Given the description of an element on the screen output the (x, y) to click on. 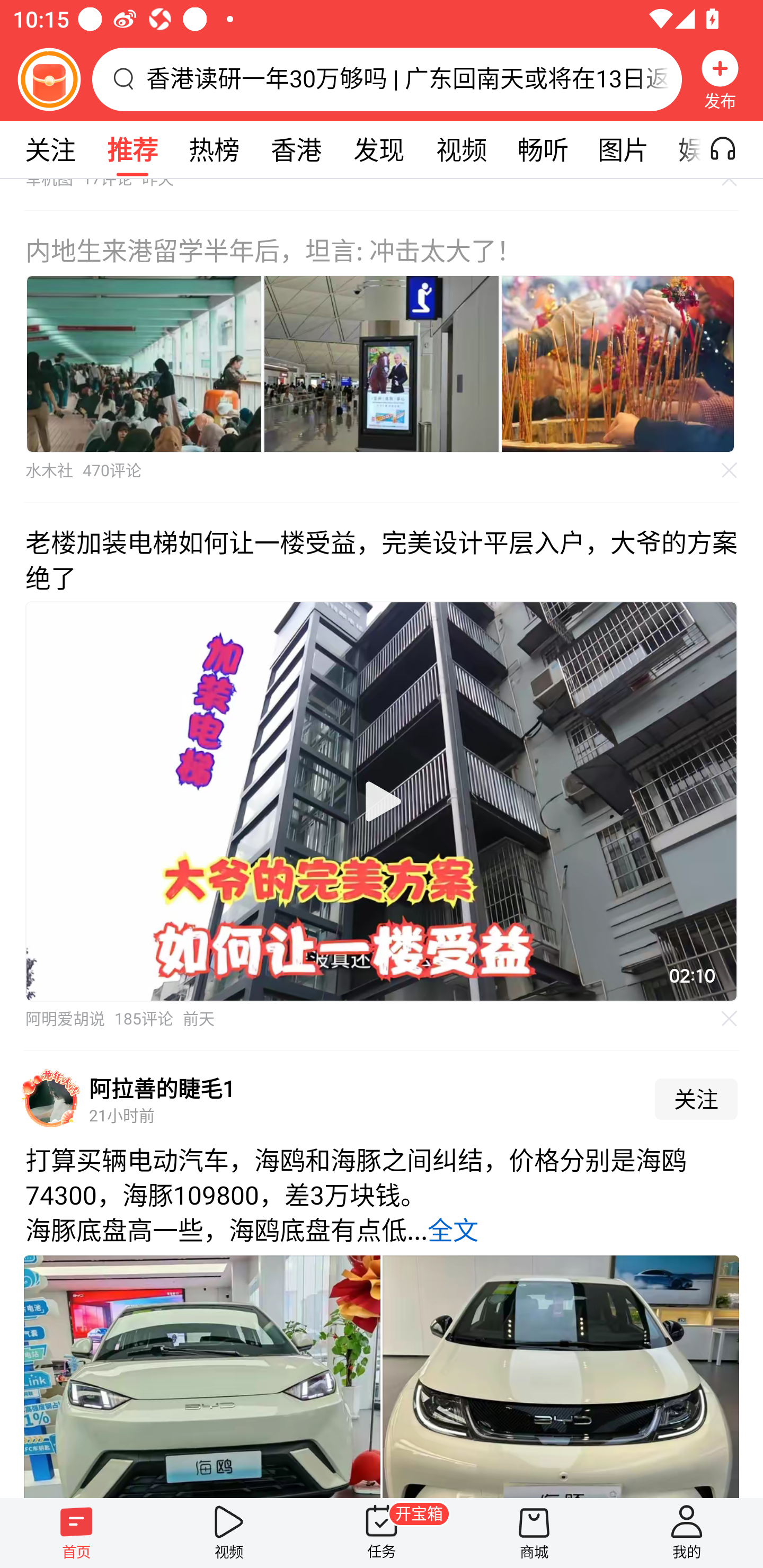
阅读赚金币 (48, 79)
发布 发布，按钮 (720, 78)
关注 (50, 149)
推荐 (132, 149)
热榜 (213, 149)
香港 (295, 149)
发现 (378, 149)
视频 (461, 149)
畅听 (542, 149)
图片 (623, 149)
听一听开关 (732, 149)
内容图片 (143, 363)
内容图片 (381, 363)
内容图片 (617, 363)
不感兴趣 (729, 470)
播放视频 视频播放器，双击屏幕打开播放控制 (381, 800)
播放视频 (381, 800)
不感兴趣 (729, 1019)
阿拉善的睫毛1 (162, 1087)
阿拉善的睫毛1头像 (50, 1099)
关注 (695, 1098)
首页 (76, 1532)
视频 (228, 1532)
任务 开宝箱 (381, 1532)
商城 (533, 1532)
我的 (686, 1532)
